Given the description of an element on the screen output the (x, y) to click on. 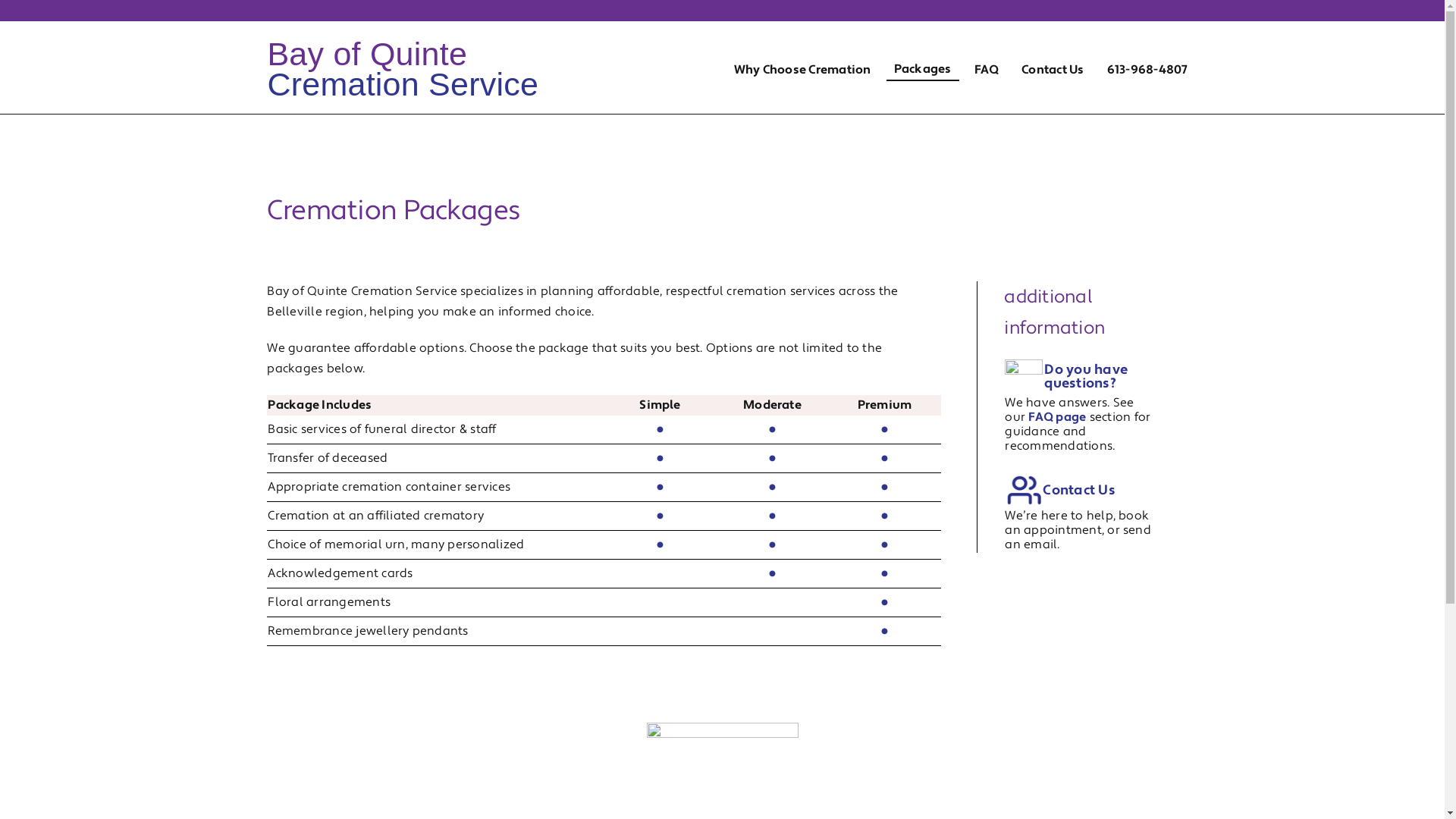
Why Choose Cremation Element type: text (802, 51)
Contact Us Element type: text (1052, 51)
Bay of Quinte
Cremation Service Element type: text (402, 68)
FAQ page Element type: text (1056, 416)
Packages Element type: text (922, 51)
FAQ Element type: text (986, 51)
Contact Us Element type: text (1078, 489)
613-968-4807 Element type: text (1147, 51)
